Given the description of an element on the screen output the (x, y) to click on. 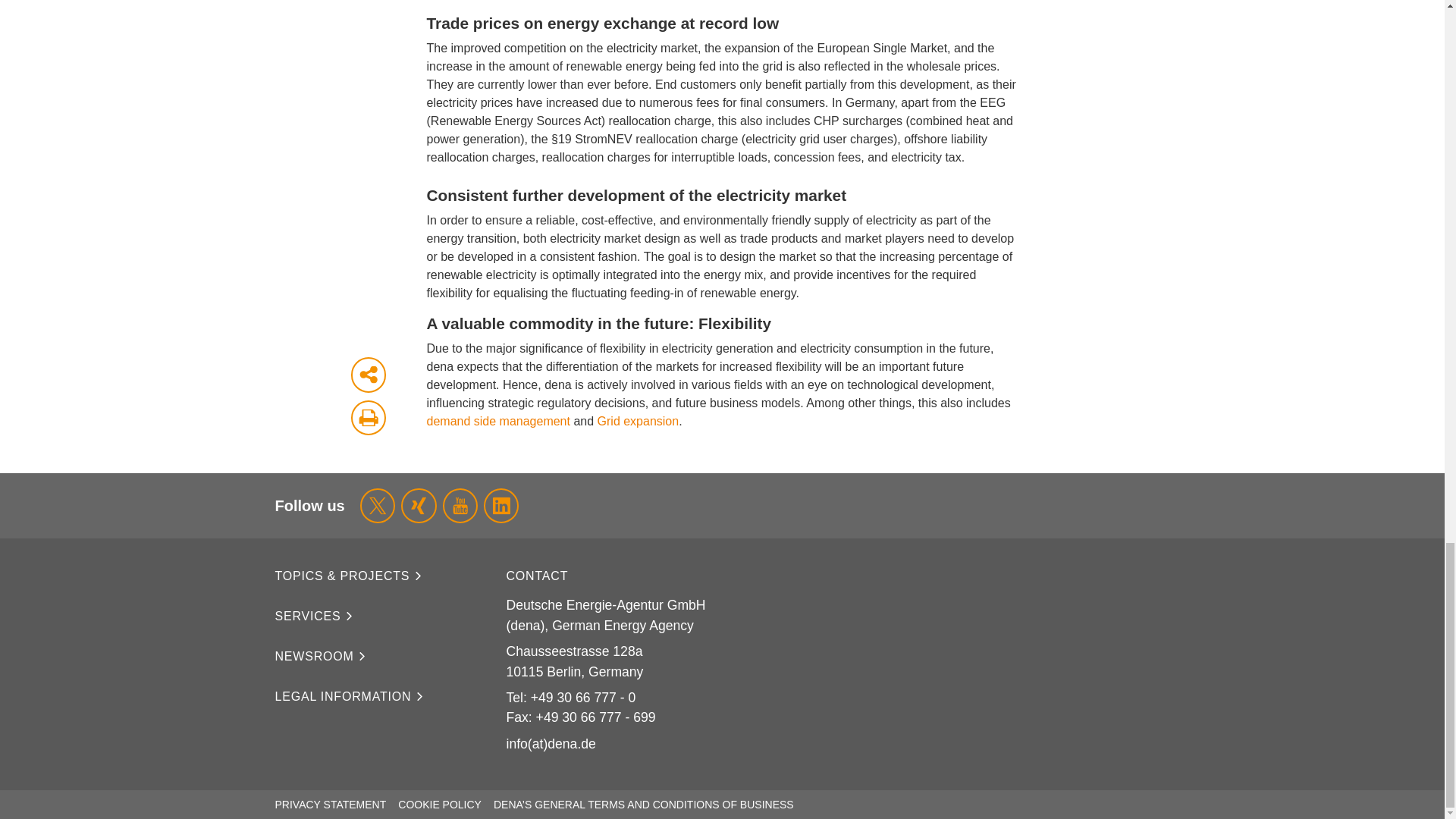
Twitter (376, 505)
YouTube (459, 505)
XING (418, 505)
LinkedIn (500, 505)
